Given the description of an element on the screen output the (x, y) to click on. 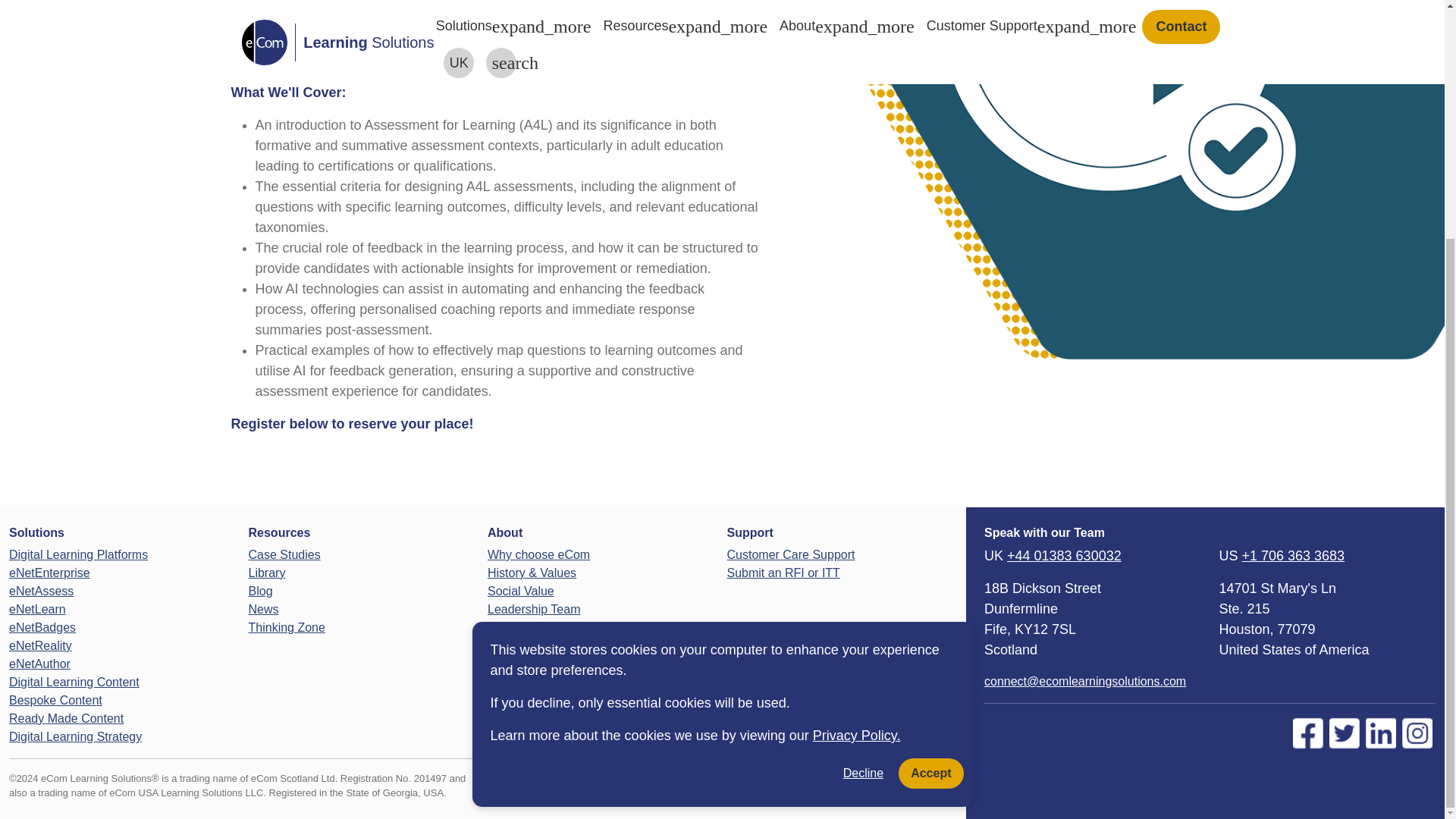
Accept (930, 446)
Privacy Policy. (856, 408)
Decline (863, 446)
